Given the description of an element on the screen output the (x, y) to click on. 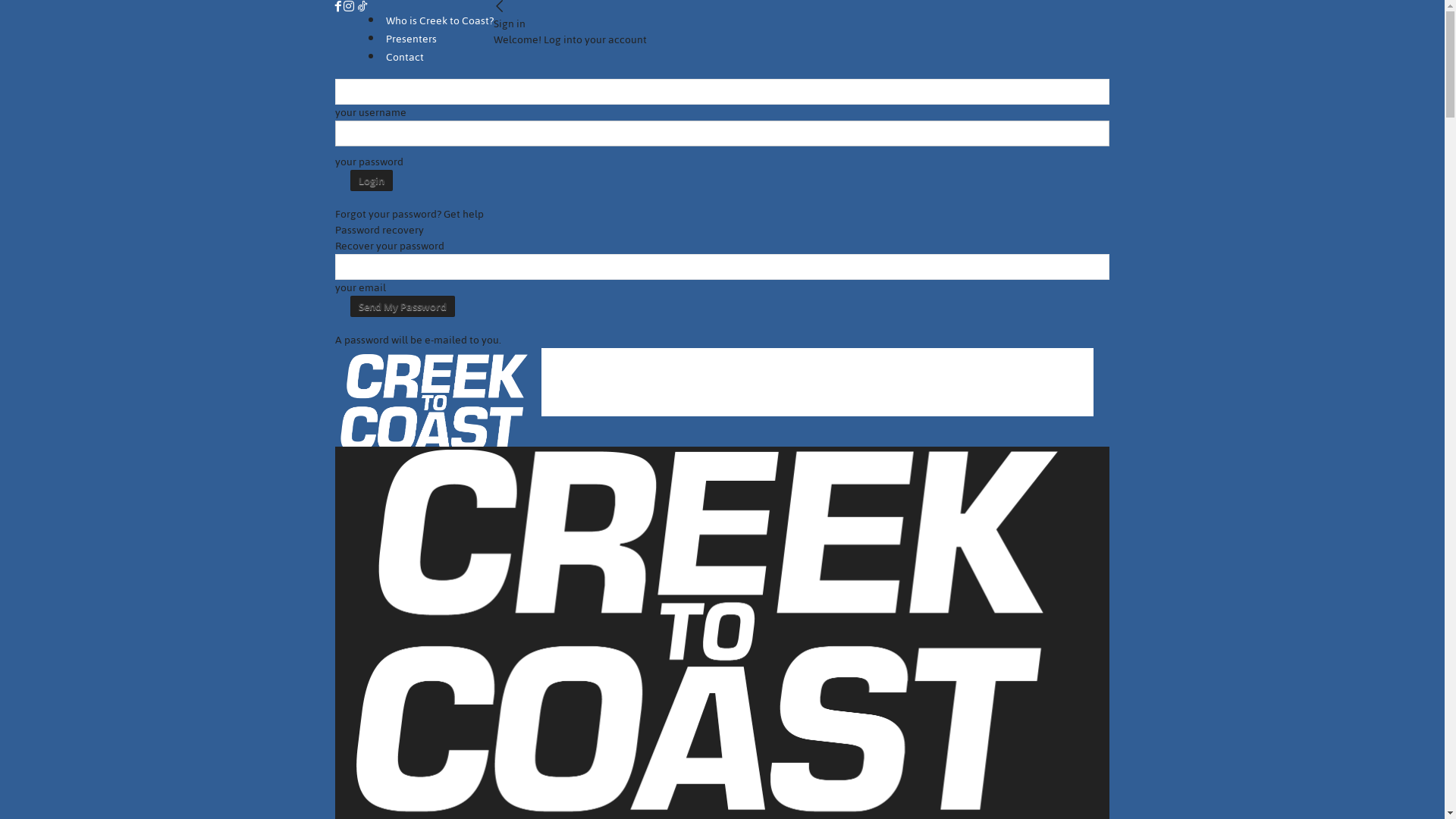
Contact Element type: text (404, 57)
Presenters Element type: text (410, 38)
Who is Creek to Coast? Element type: text (439, 20)
Advertisement Element type: hover (817, 382)
Forgot your password? Get help Element type: text (409, 213)
Creek To Coast Element type: text (438, 397)
